Given the description of an element on the screen output the (x, y) to click on. 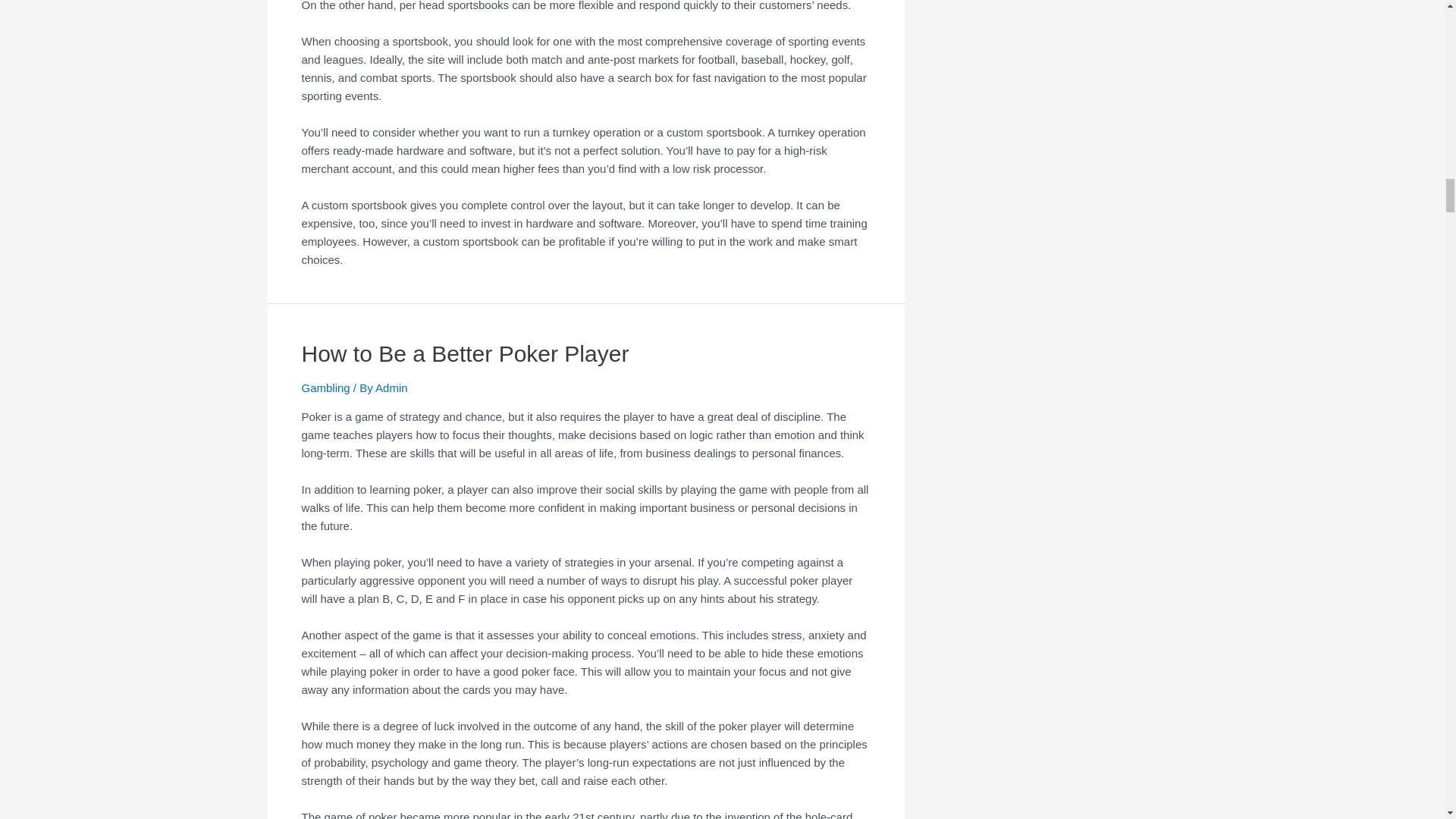
Admin (391, 387)
View all posts by Admin (391, 387)
How to Be a Better Poker Player (464, 353)
Gambling (325, 387)
